Given the description of an element on the screen output the (x, y) to click on. 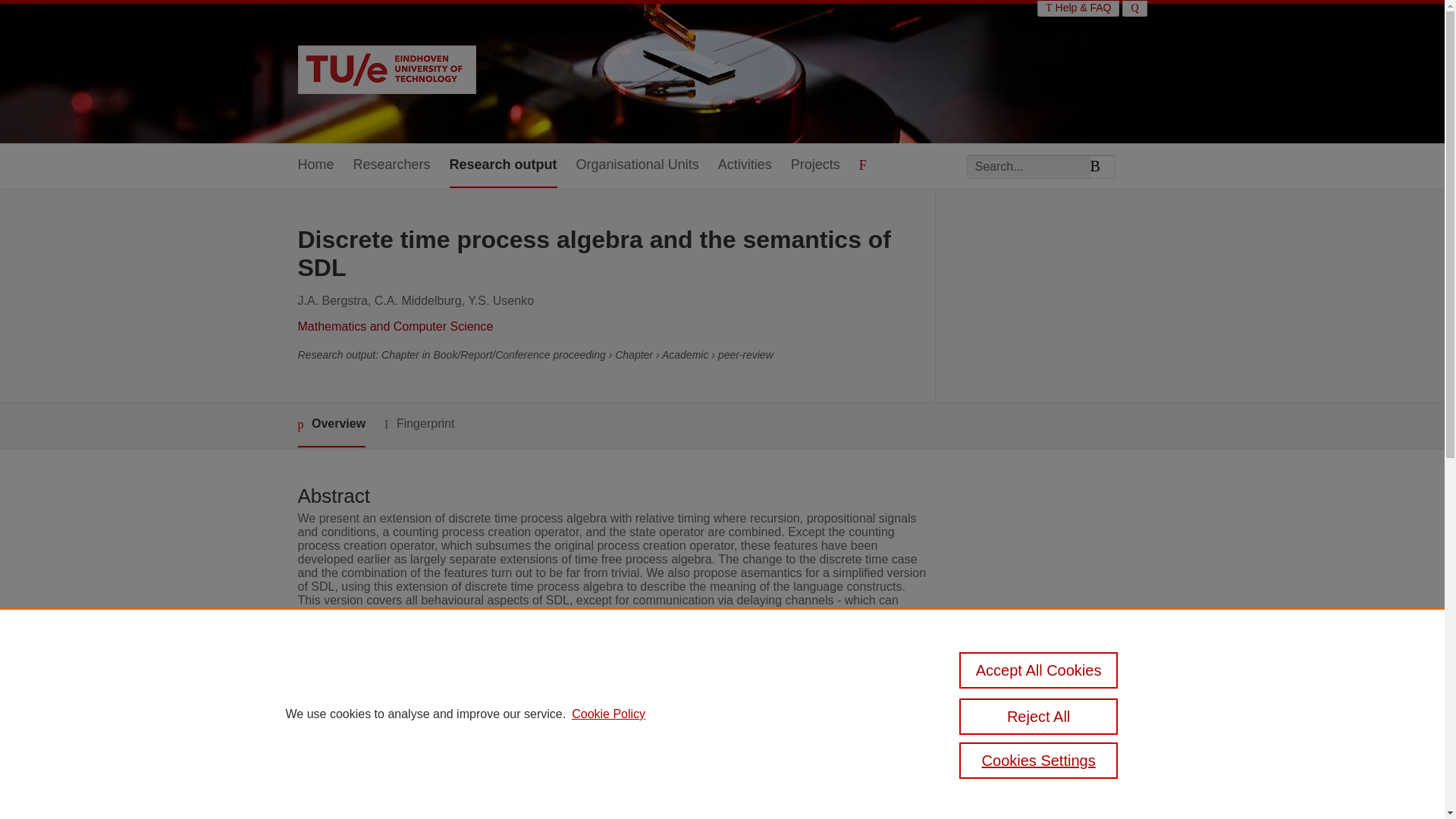
Eindhoven University of Technology research portal Home (386, 71)
Research output (503, 165)
Mathematics and Computer Science (395, 326)
Elsevier (533, 735)
Activities (744, 165)
Researchers (391, 165)
Organisational Units (637, 165)
Overview (331, 424)
Projects (815, 165)
Fingerprint (419, 423)
